Given the description of an element on the screen output the (x, y) to click on. 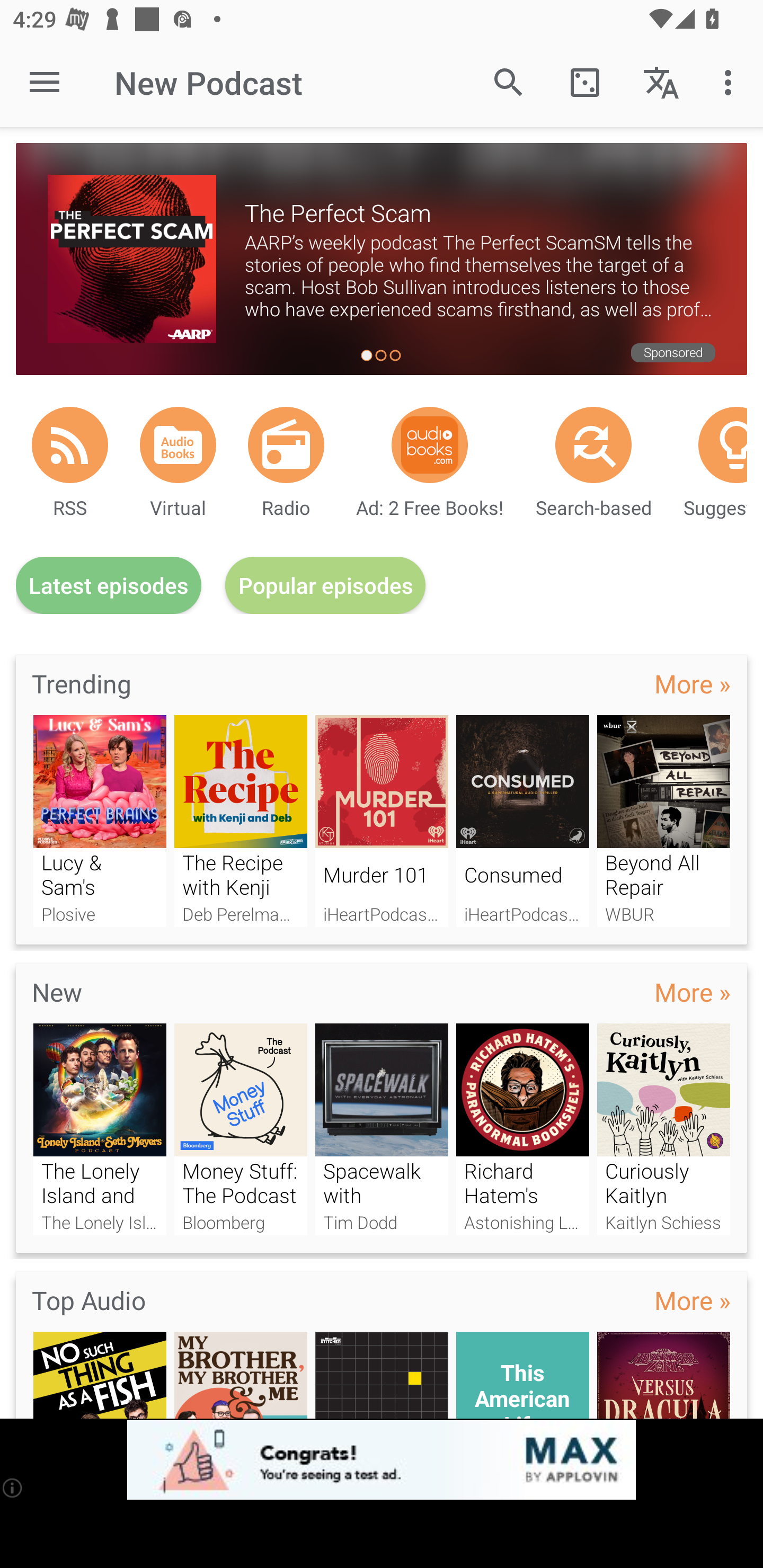
Open navigation sidebar (44, 82)
Search (508, 81)
Random pick (585, 81)
Podcast languages (661, 81)
More options (731, 81)
RSS (70, 444)
Virtual (177, 444)
Radio (285, 444)
Search-based (593, 444)
Suggestions (722, 444)
Latest episodes (108, 585)
Popular episodes (325, 585)
More » (692, 683)
Lucy & Sam's Perfect Brains Plosive (99, 820)
Murder 101 iHeartPodcasts (381, 820)
Consumed iHeartPodcasts and Grim & Mild (522, 820)
Beyond All Repair WBUR (663, 820)
More » (692, 992)
Money Stuff: The Podcast Bloomberg (240, 1129)
Spacewalk with Everyday Astronaut Tim Dodd (381, 1129)
Curiously Kaitlyn Kaitlyn Schiess (663, 1129)
More » (692, 1299)
This American Life (522, 1375)
app-monetization (381, 1459)
(i) (11, 1487)
